Given the description of an element on the screen output the (x, y) to click on. 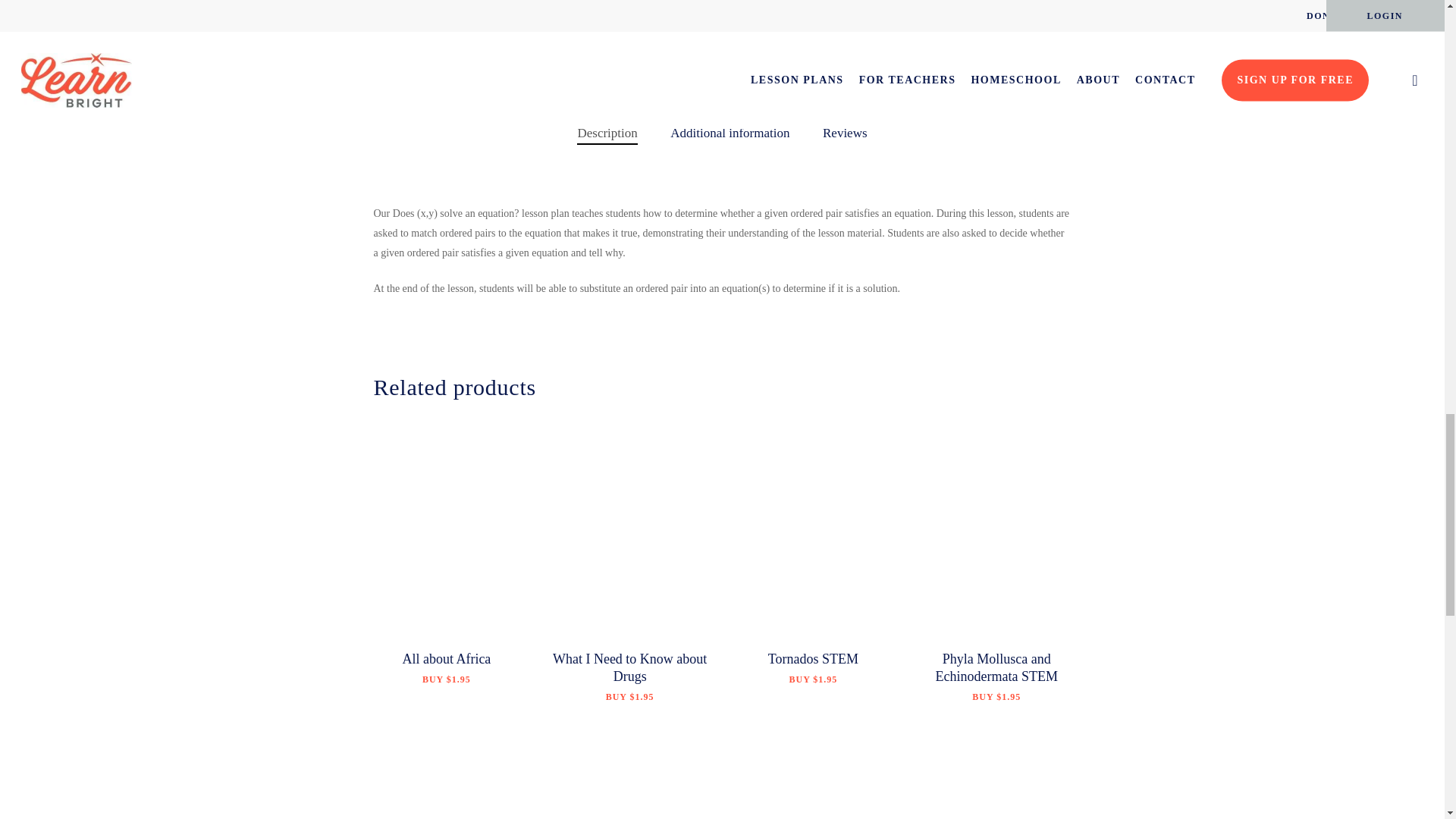
Reviews (844, 133)
Description (606, 133)
Additional information (729, 133)
All about Africa (446, 663)
